Given the description of an element on the screen output the (x, y) to click on. 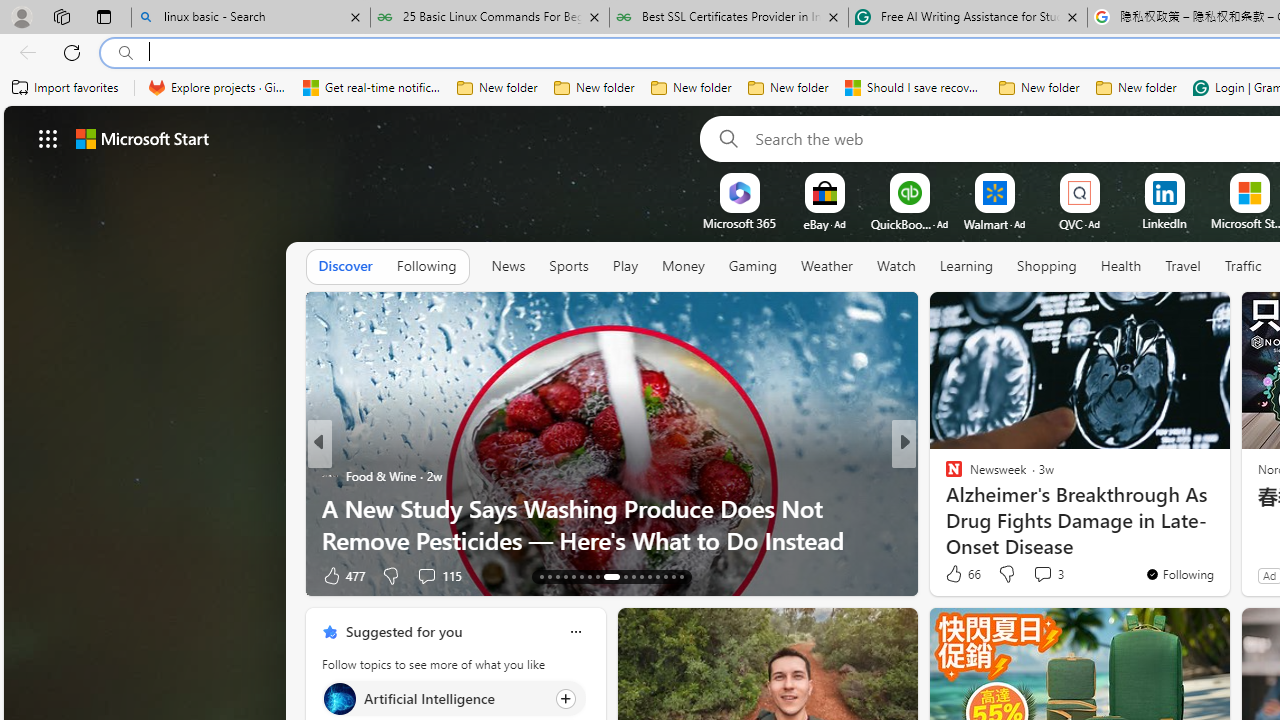
Class: icon-img (575, 632)
